Given the description of an element on the screen output the (x, y) to click on. 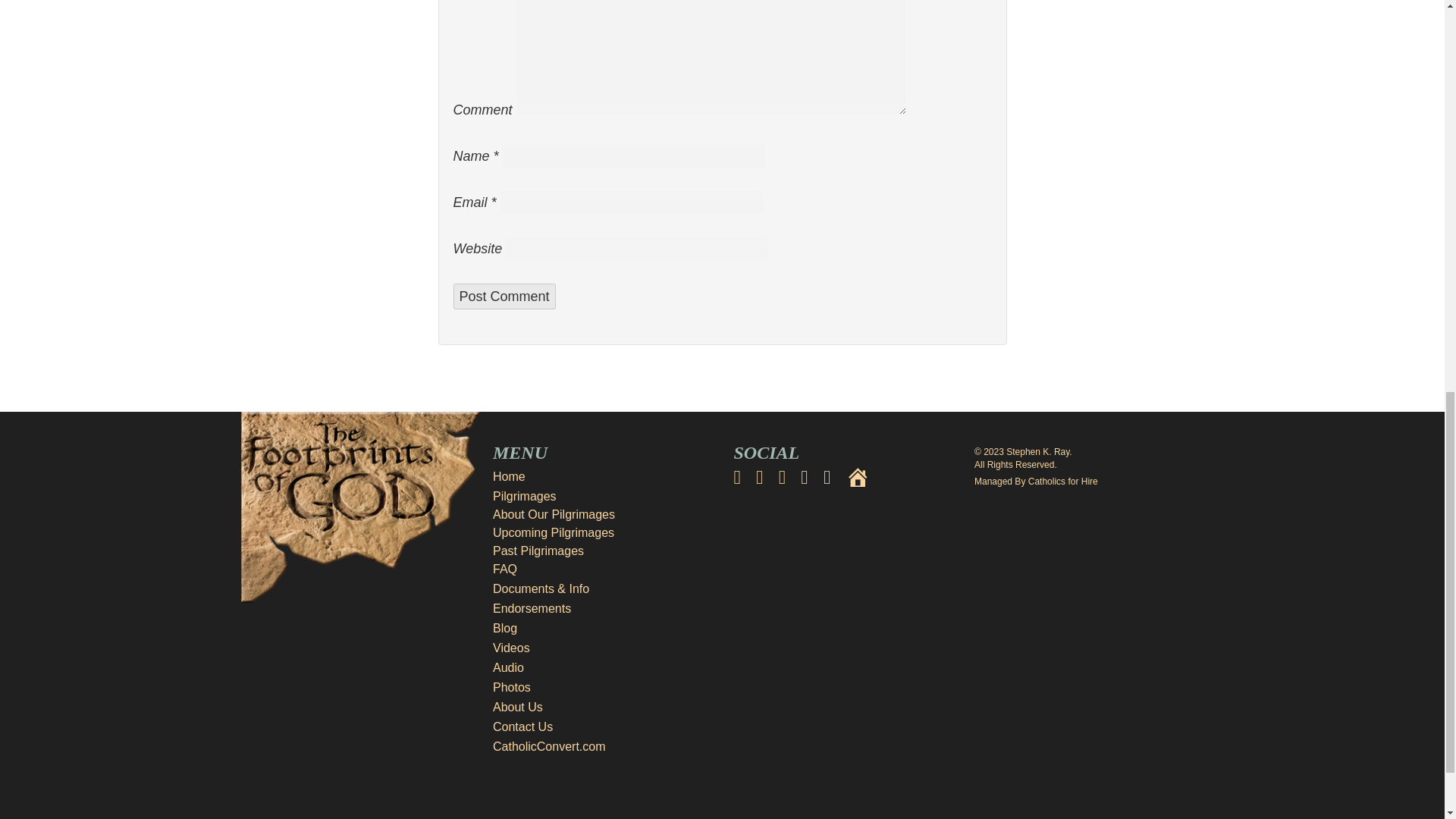
Upcoming Pilgrimages (553, 532)
Contact Us (602, 727)
Post Comment (504, 296)
About Our Pilgrimages (553, 513)
Blog (602, 628)
Post Comment (504, 296)
Audio (602, 668)
About Us (602, 707)
Past Pilgrimages (538, 550)
Photos (602, 687)
